Given the description of an element on the screen output the (x, y) to click on. 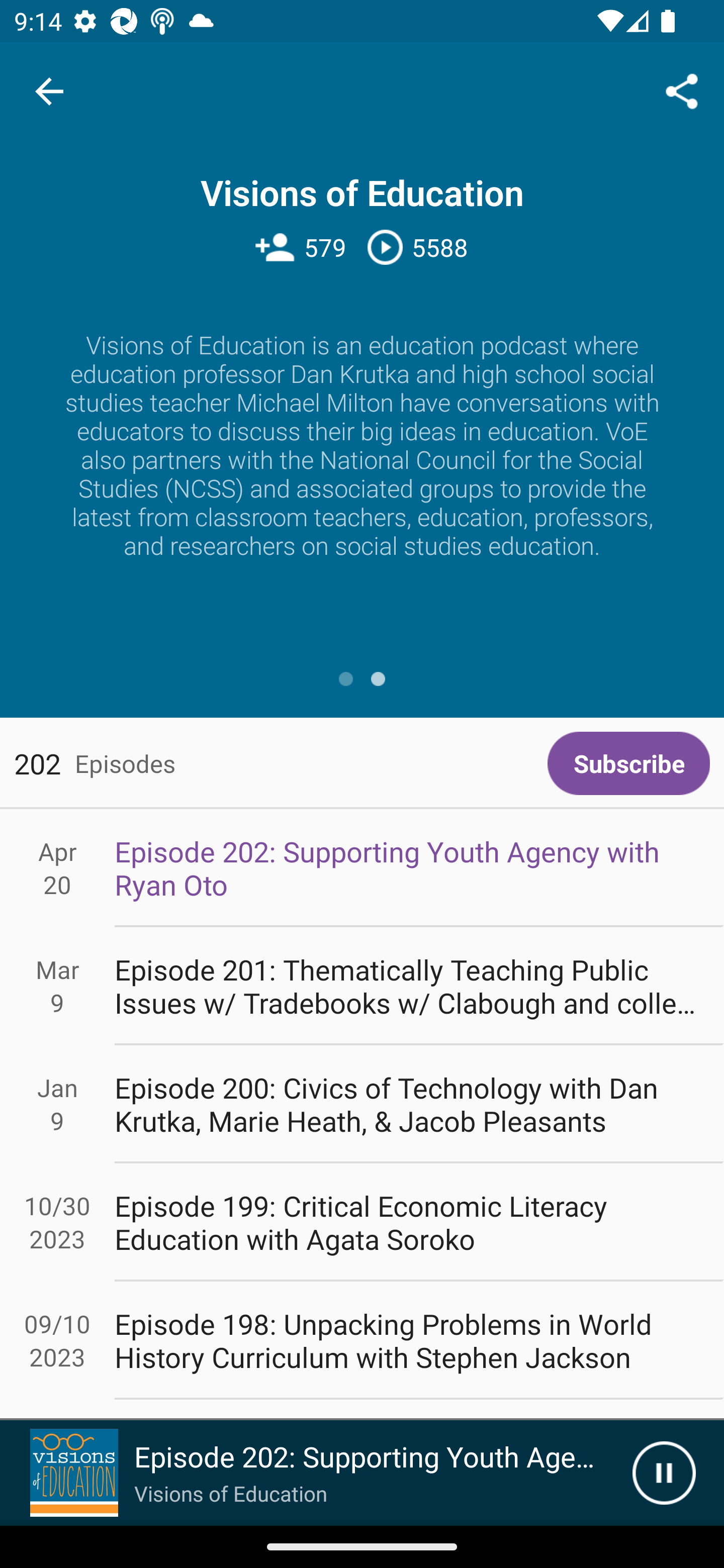
Navigate up (49, 91)
Share... (681, 90)
Subscribe (628, 763)
Pause (663, 1472)
